Given the description of an element on the screen output the (x, y) to click on. 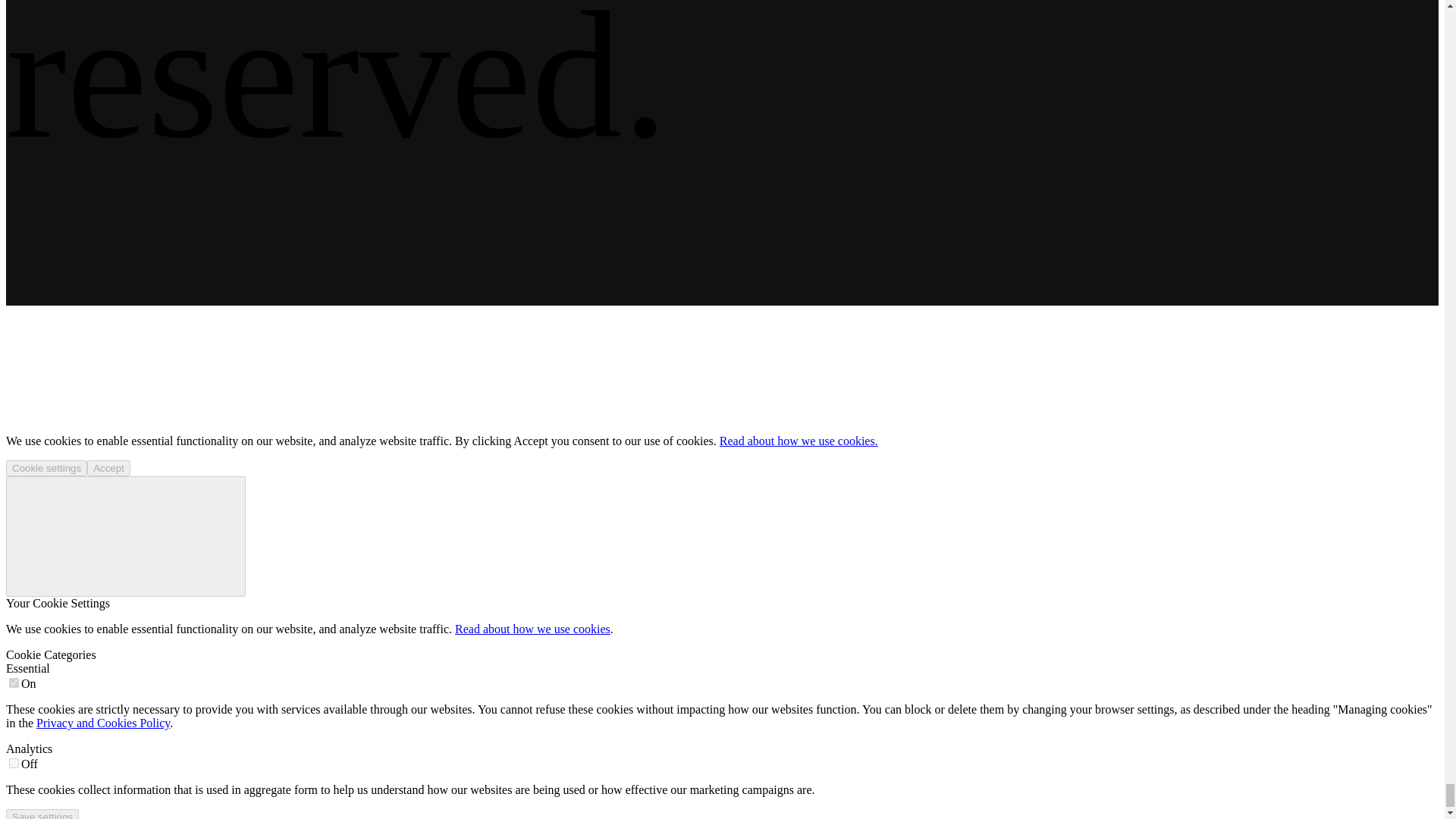
on (13, 682)
Privacy and Cookies Policy (103, 722)
Read about how we use cookies (532, 628)
Accept (109, 467)
Read about how we use cookies. (798, 440)
Cookie settings (46, 467)
on (13, 763)
